Given the description of an element on the screen output the (x, y) to click on. 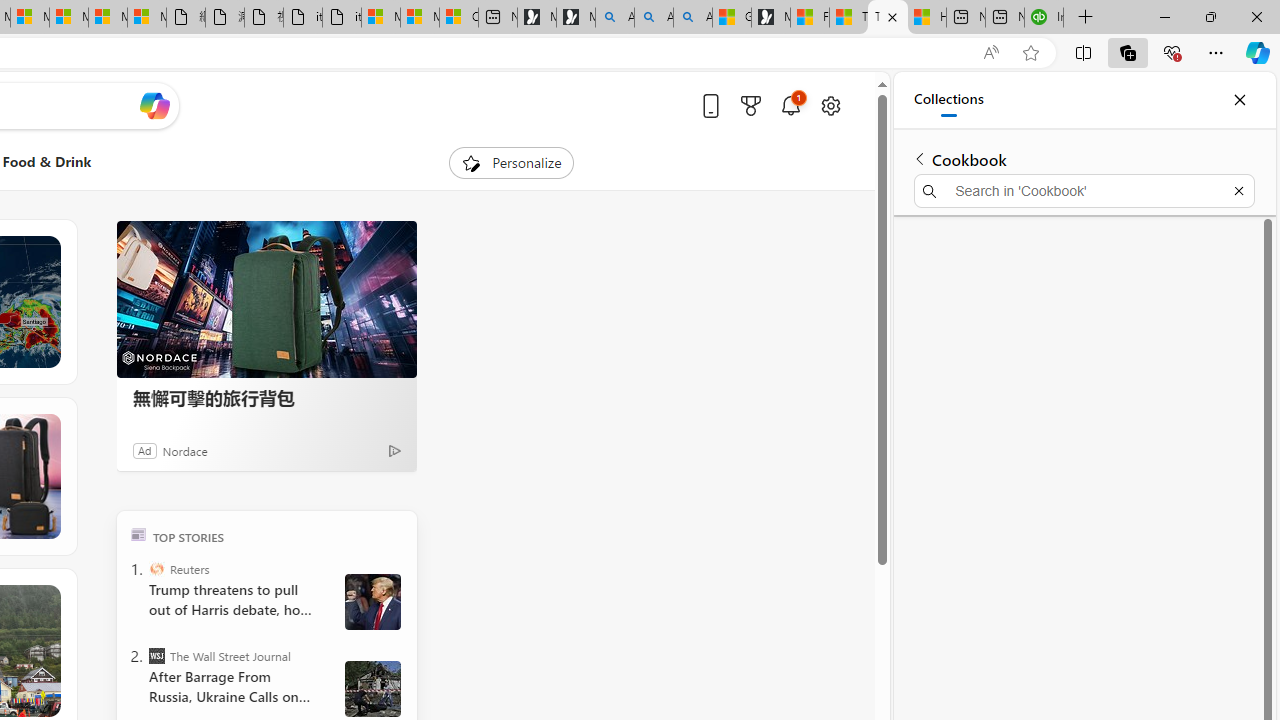
Back to list of collections (920, 158)
The Wall Street Journal (156, 655)
Alabama high school quarterback dies - Search (614, 17)
itconcepthk.com/projector_solutions.mp4 (341, 17)
